Given the description of an element on the screen output the (x, y) to click on. 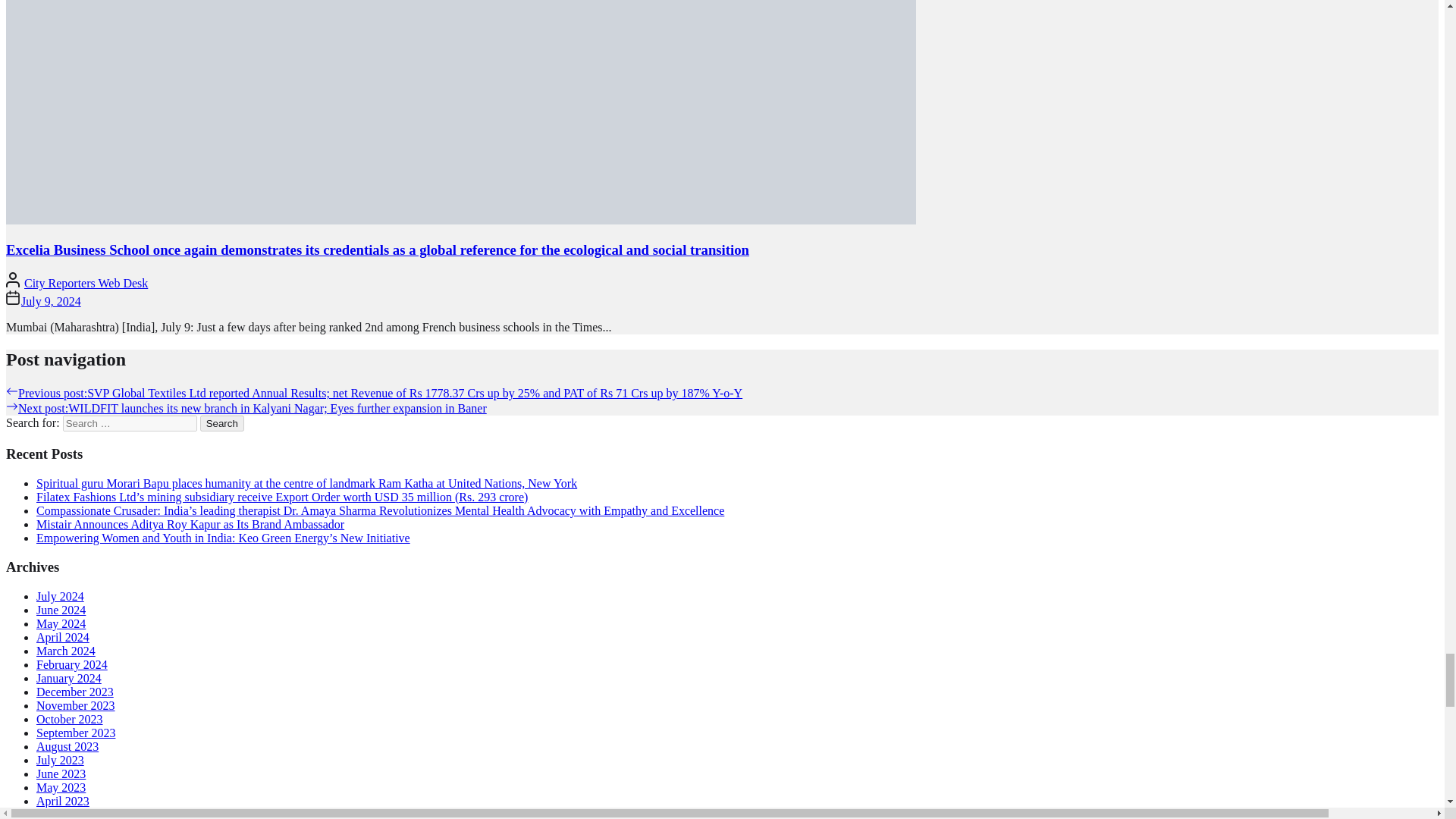
Search (222, 423)
Search (222, 423)
